Given the description of an element on the screen output the (x, y) to click on. 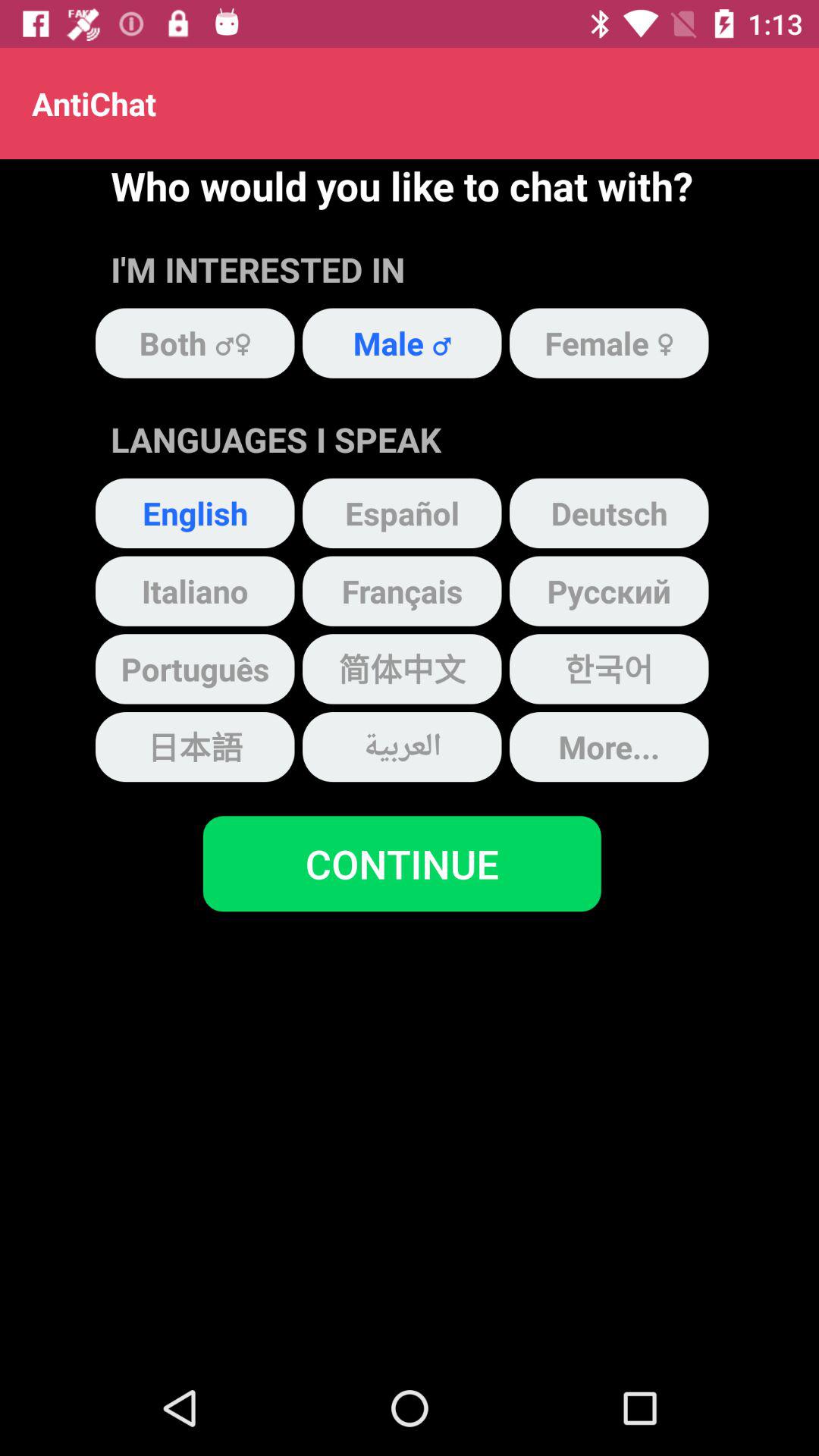
open item above languages i speak icon (401, 343)
